Given the description of an element on the screen output the (x, y) to click on. 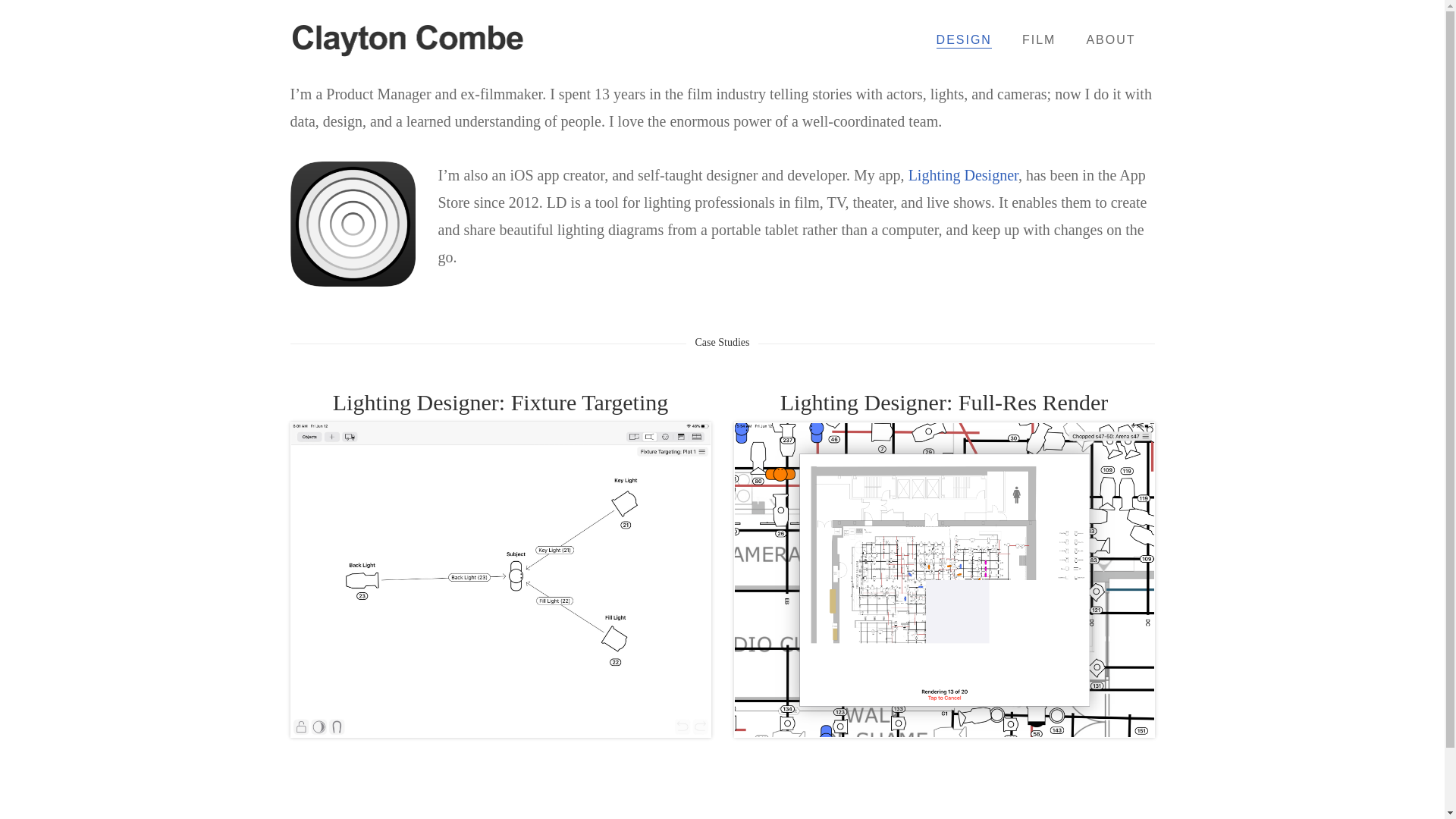
FILM (1038, 39)
Lighting Designer (962, 175)
ABOUT (1110, 39)
Clayton Combe - Storytelling with Software (409, 39)
DESIGN (964, 39)
